Given the description of an element on the screen output the (x, y) to click on. 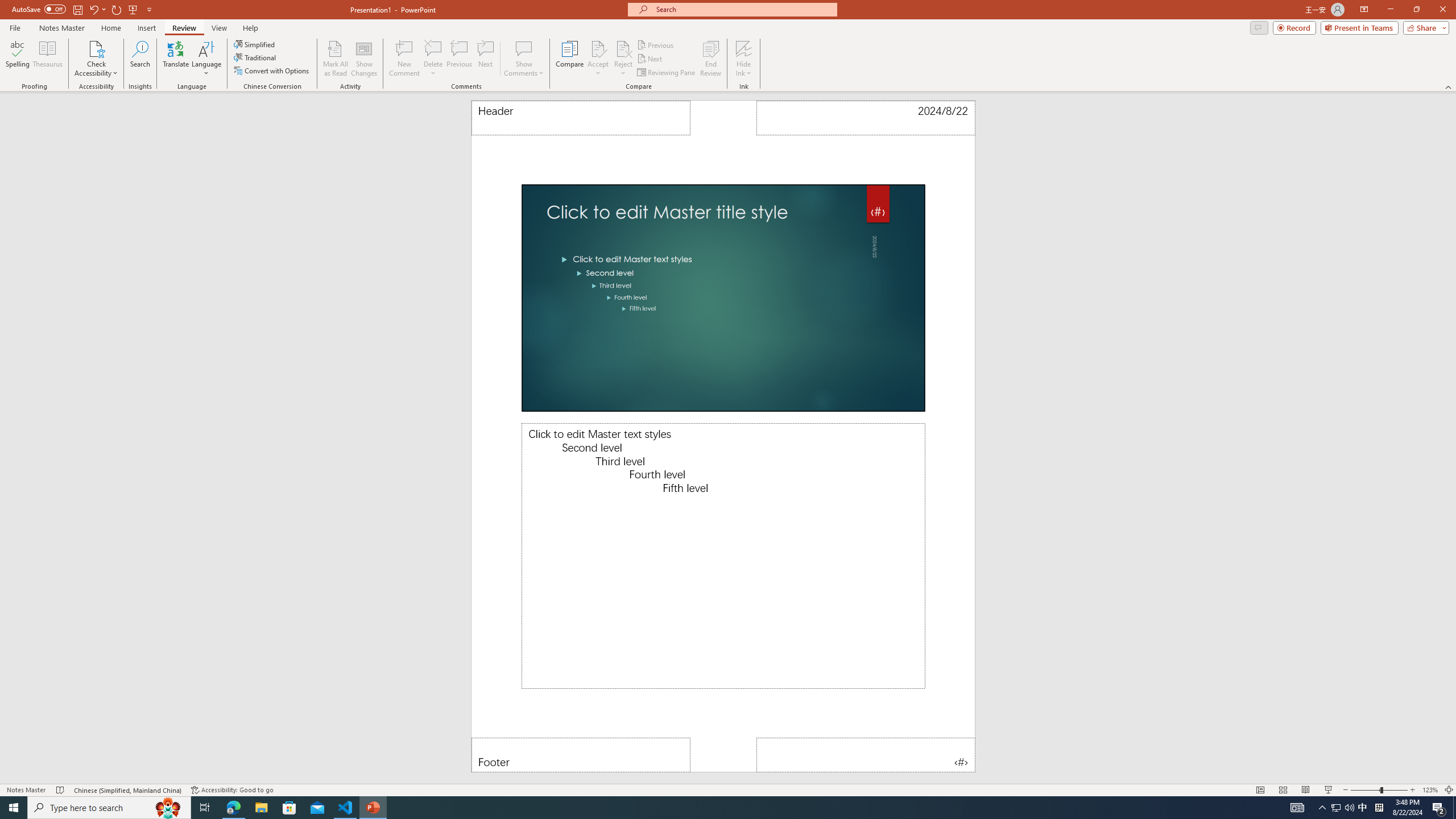
New Comment (403, 58)
Convert with Options... (272, 69)
Language (206, 58)
